Given the description of an element on the screen output the (x, y) to click on. 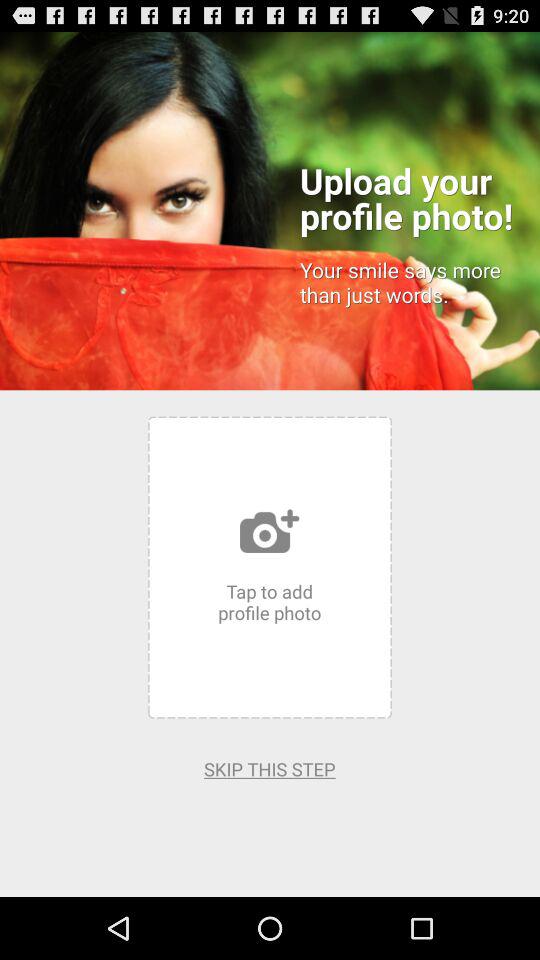
turn off skip this step at the bottom (269, 768)
